Given the description of an element on the screen output the (x, y) to click on. 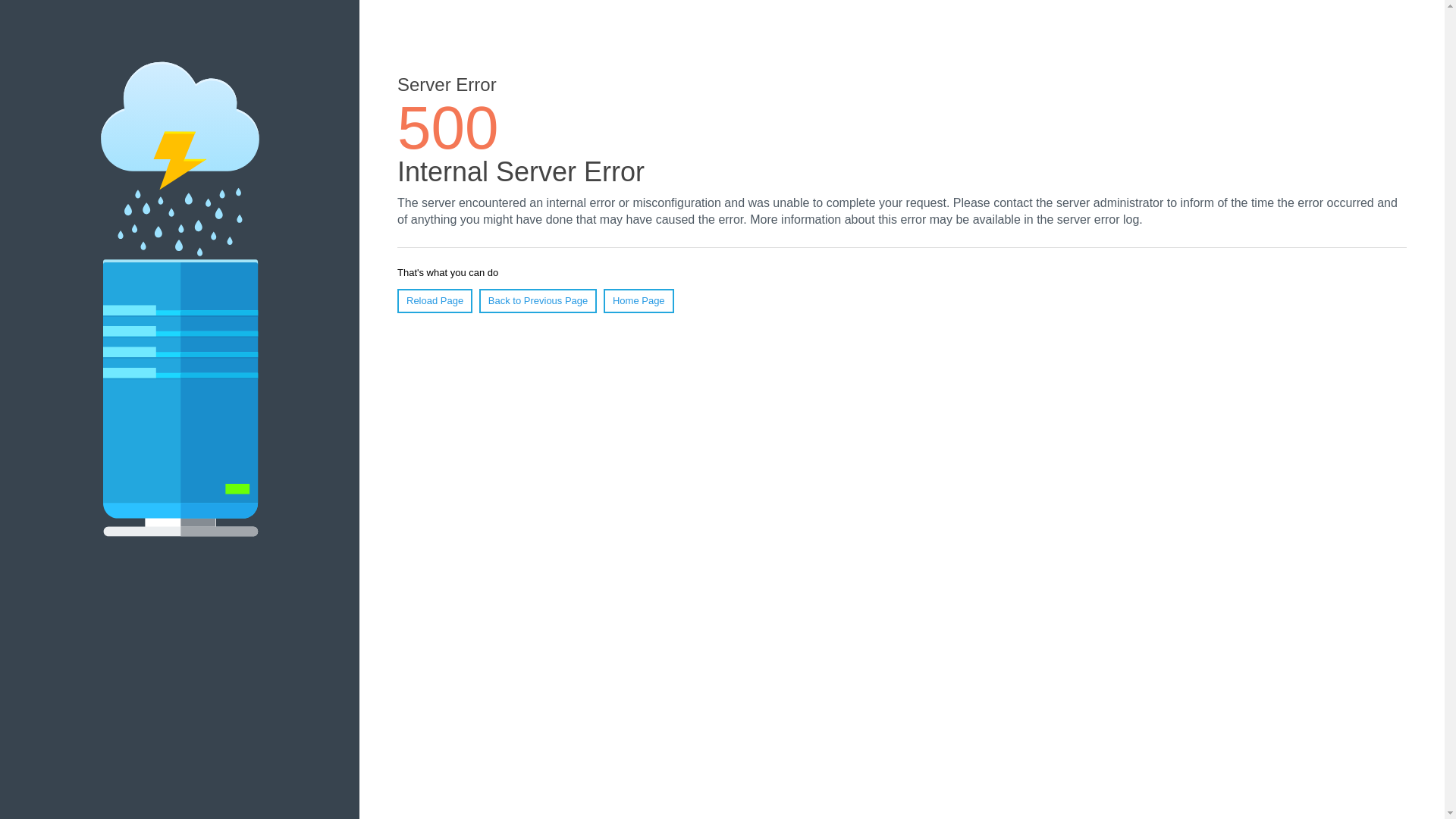
Reload Page (434, 300)
Home Page (639, 300)
Back to Previous Page (537, 300)
